Given the description of an element on the screen output the (x, y) to click on. 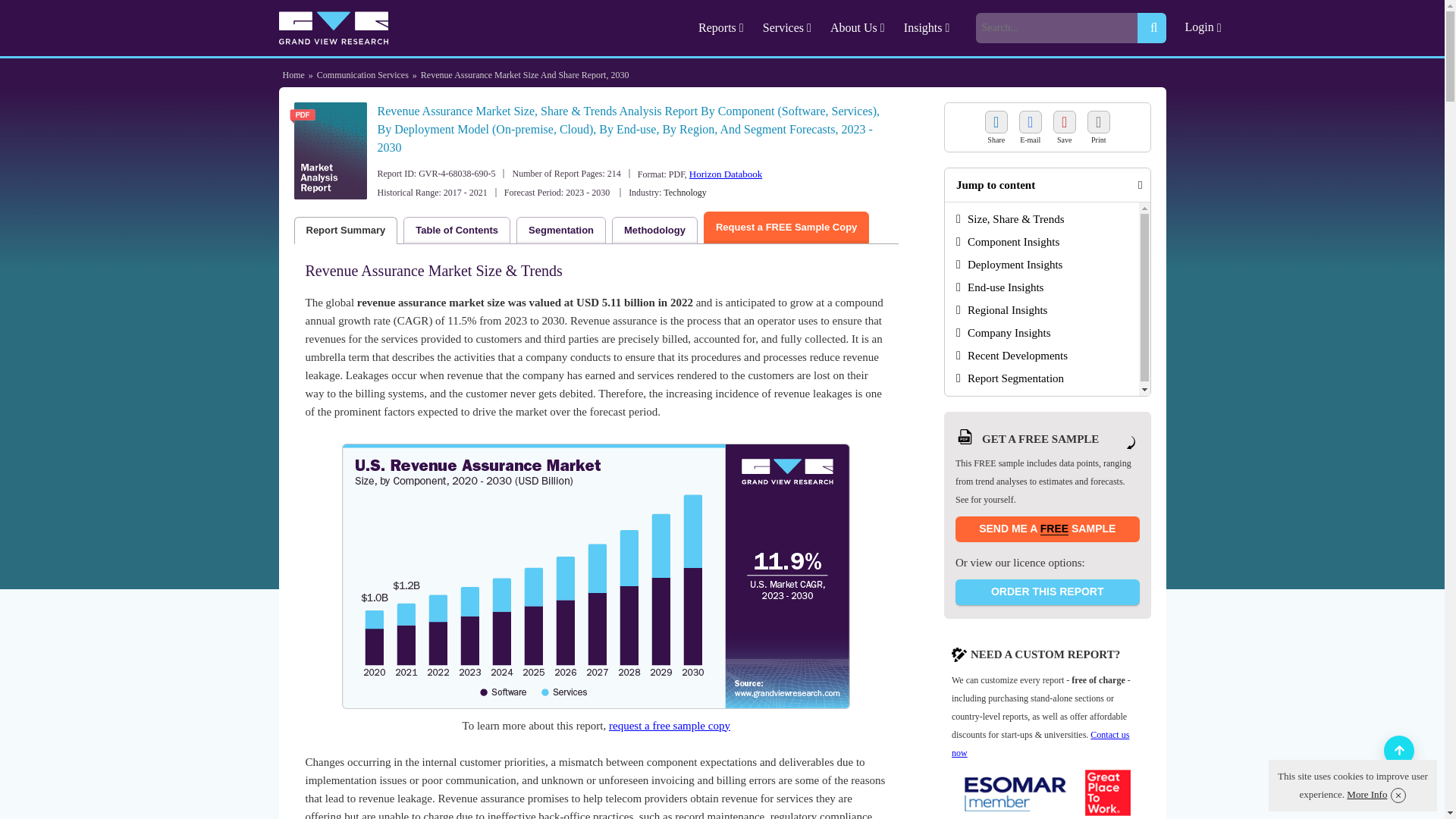
Reports (722, 27)
